Given the description of an element on the screen output the (x, y) to click on. 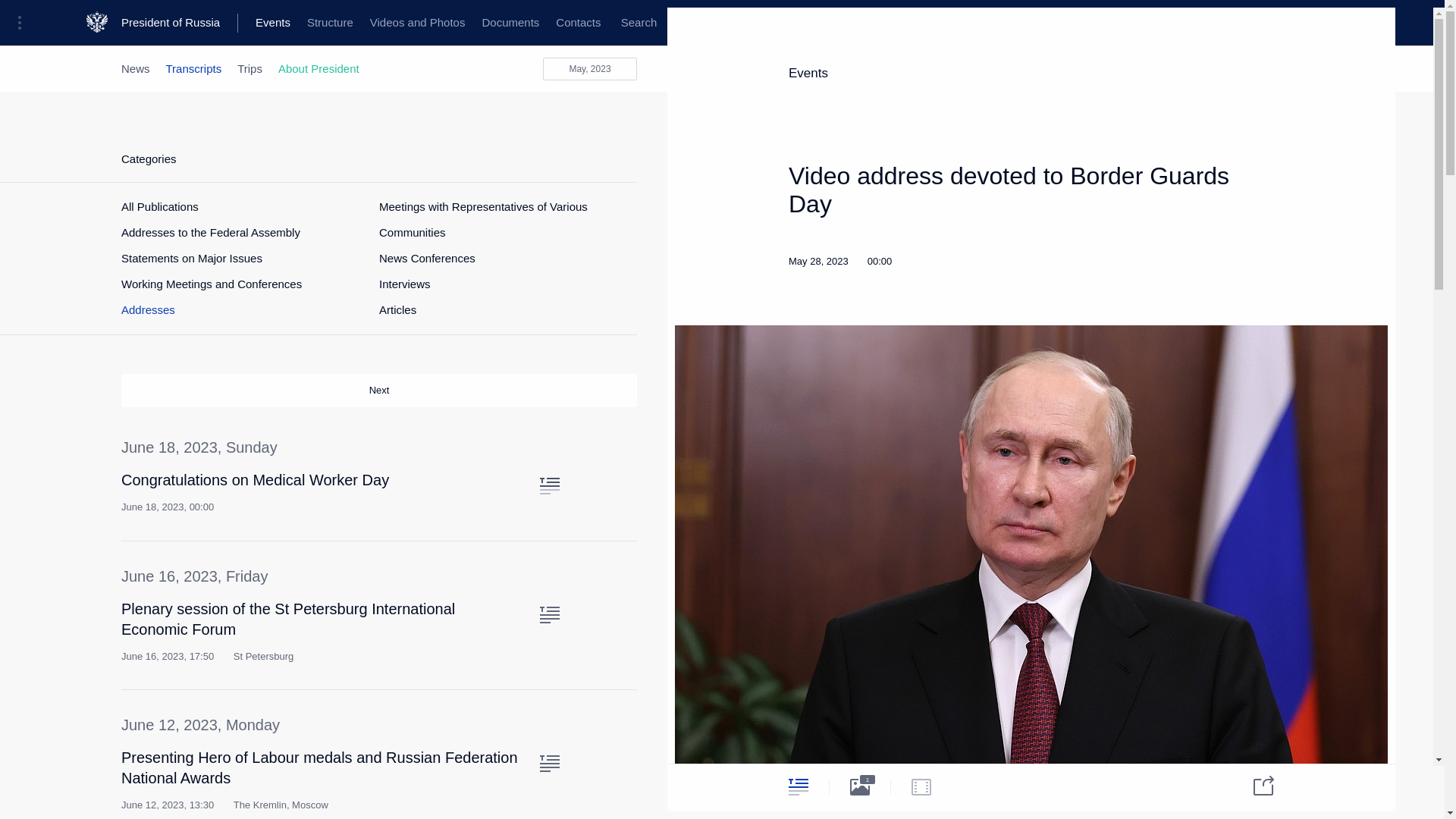
Addresses (147, 309)
All Publications (159, 207)
About President (318, 68)
Interviews (404, 284)
Transcripts (194, 68)
Structure (329, 22)
Text of the article (549, 763)
Meetings with Representatives of Various Communities (499, 219)
Statements on Major Issues (191, 258)
